Given the description of an element on the screen output the (x, y) to click on. 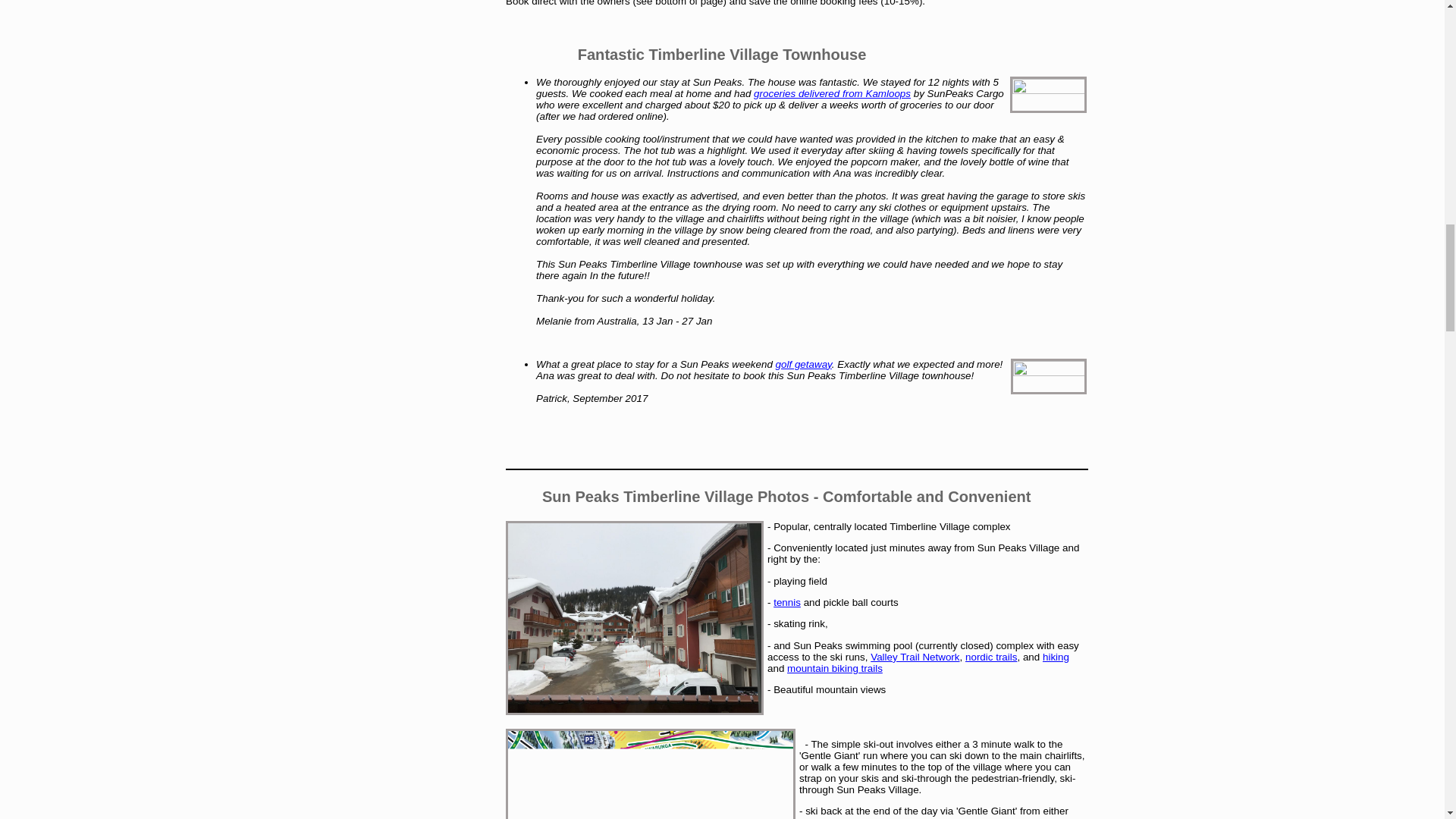
golf getaway (803, 363)
mountain biking trails (834, 668)
Timberline Village Townhouses - Sun Peaks Resort (633, 617)
tennis (786, 602)
groceries delivered from Kamloops (832, 93)
nordic trails (990, 656)
Valley Trail Network (914, 656)
hiking (1055, 656)
